Given the description of an element on the screen output the (x, y) to click on. 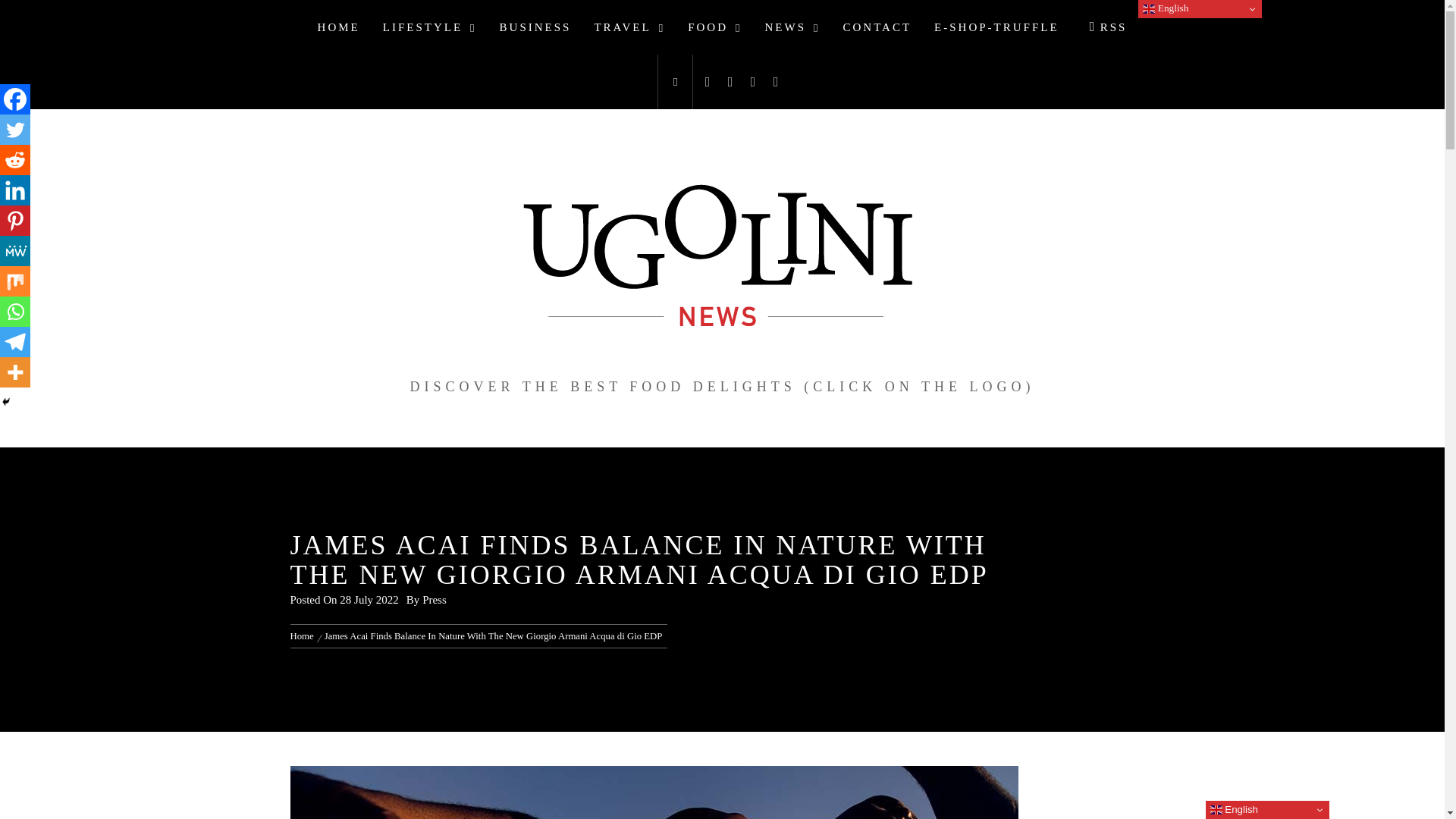
CONTACT (877, 27)
LIFESTYLE (429, 27)
NEWS (791, 27)
ACCETTA (1076, 24)
INFO (1133, 24)
FOOD (714, 27)
BUSINESS (535, 27)
TRAVEL (629, 27)
E-SHOP-TRUFFLE (996, 27)
HOME (338, 27)
Facebook (15, 99)
RSS (1104, 27)
